Given the description of an element on the screen output the (x, y) to click on. 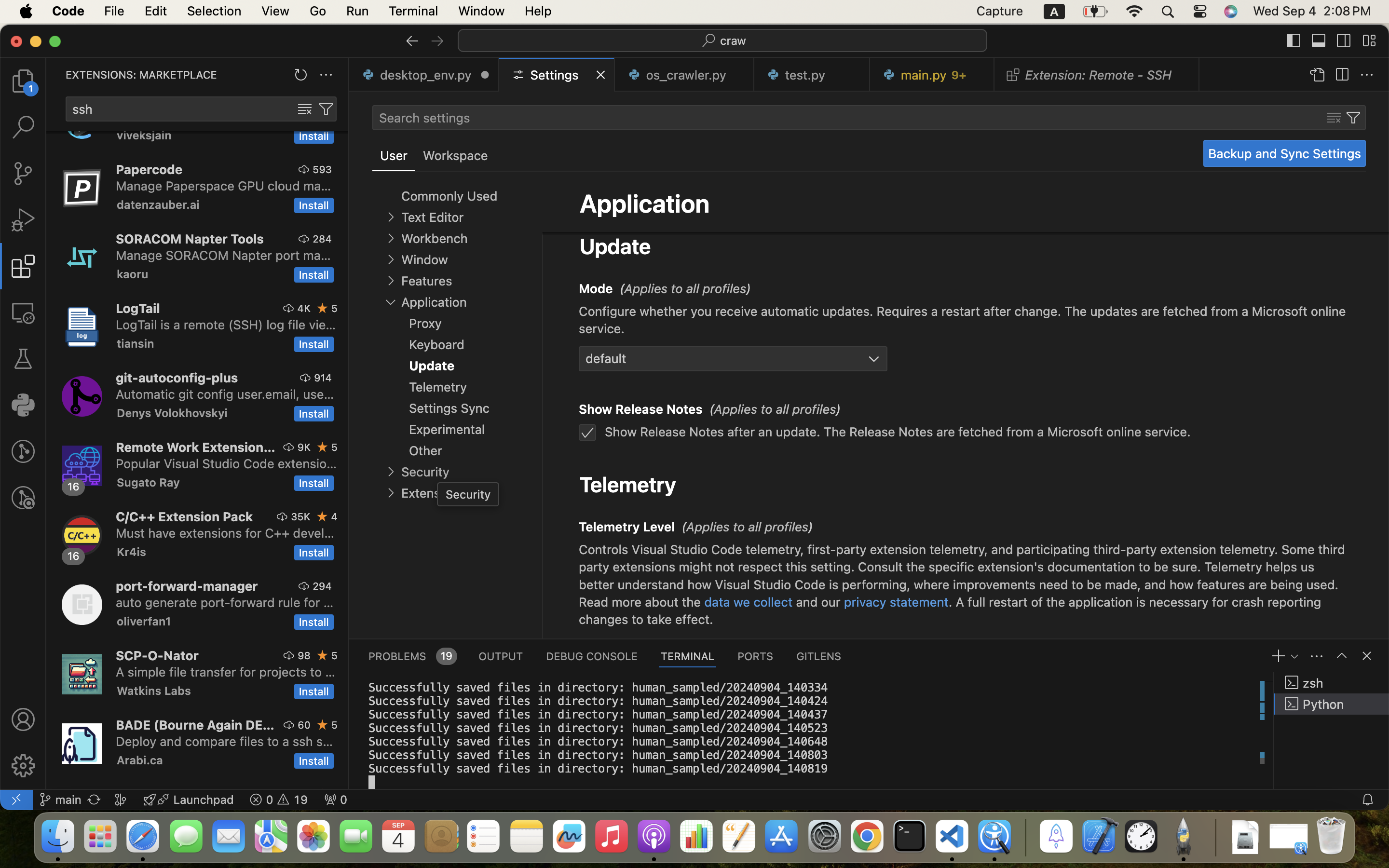
0 main.py   9+ Element type: AXRadioButton (932, 74)
Launchpad   Element type: AXButton (188, 799)
Other Element type: AXStaticText (425, 450)
1 Settings   Element type: AXRadioButton (557, 74)
0 test.py   Element type: AXRadioButton (812, 74)
